Given the description of an element on the screen output the (x, y) to click on. 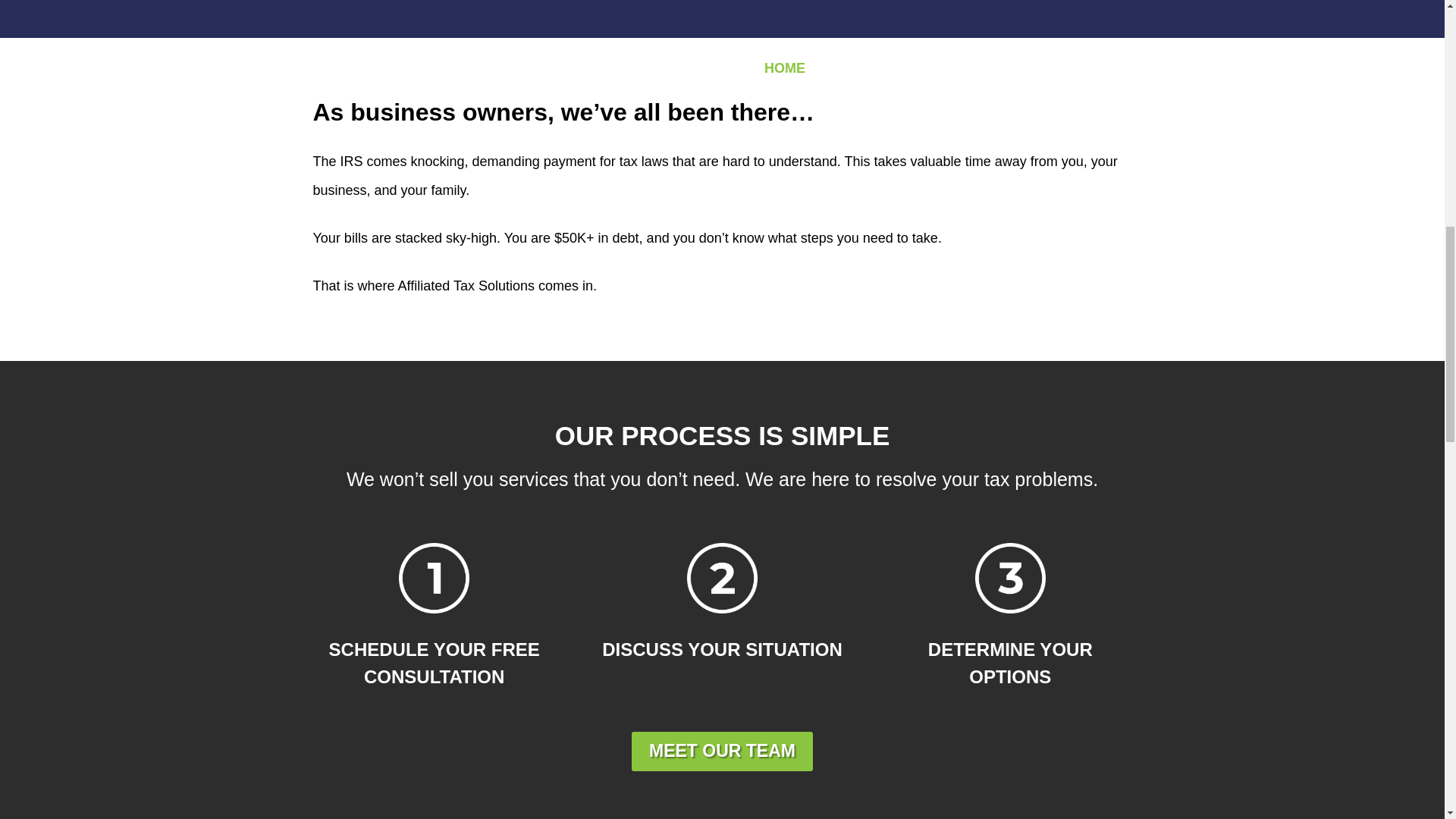
MEET OUR TEAM (721, 752)
